Given the description of an element on the screen output the (x, y) to click on. 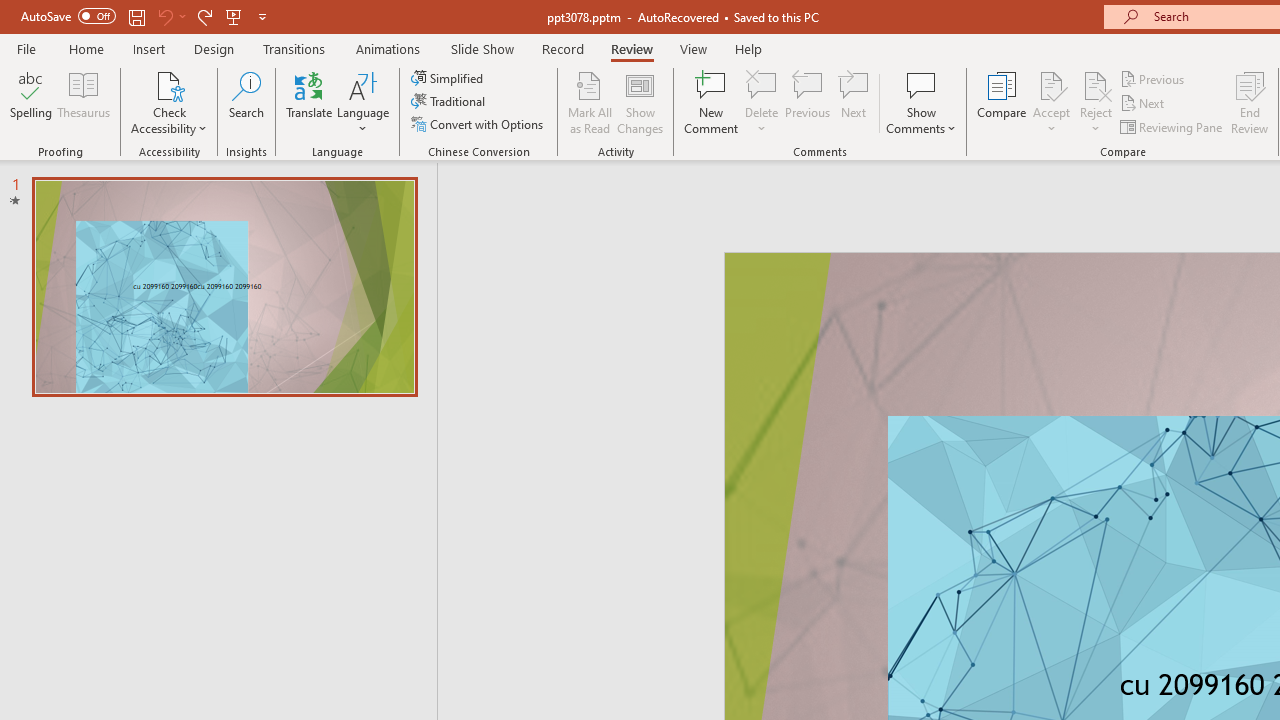
Mark All as Read (589, 102)
